Given the description of an element on the screen output the (x, y) to click on. 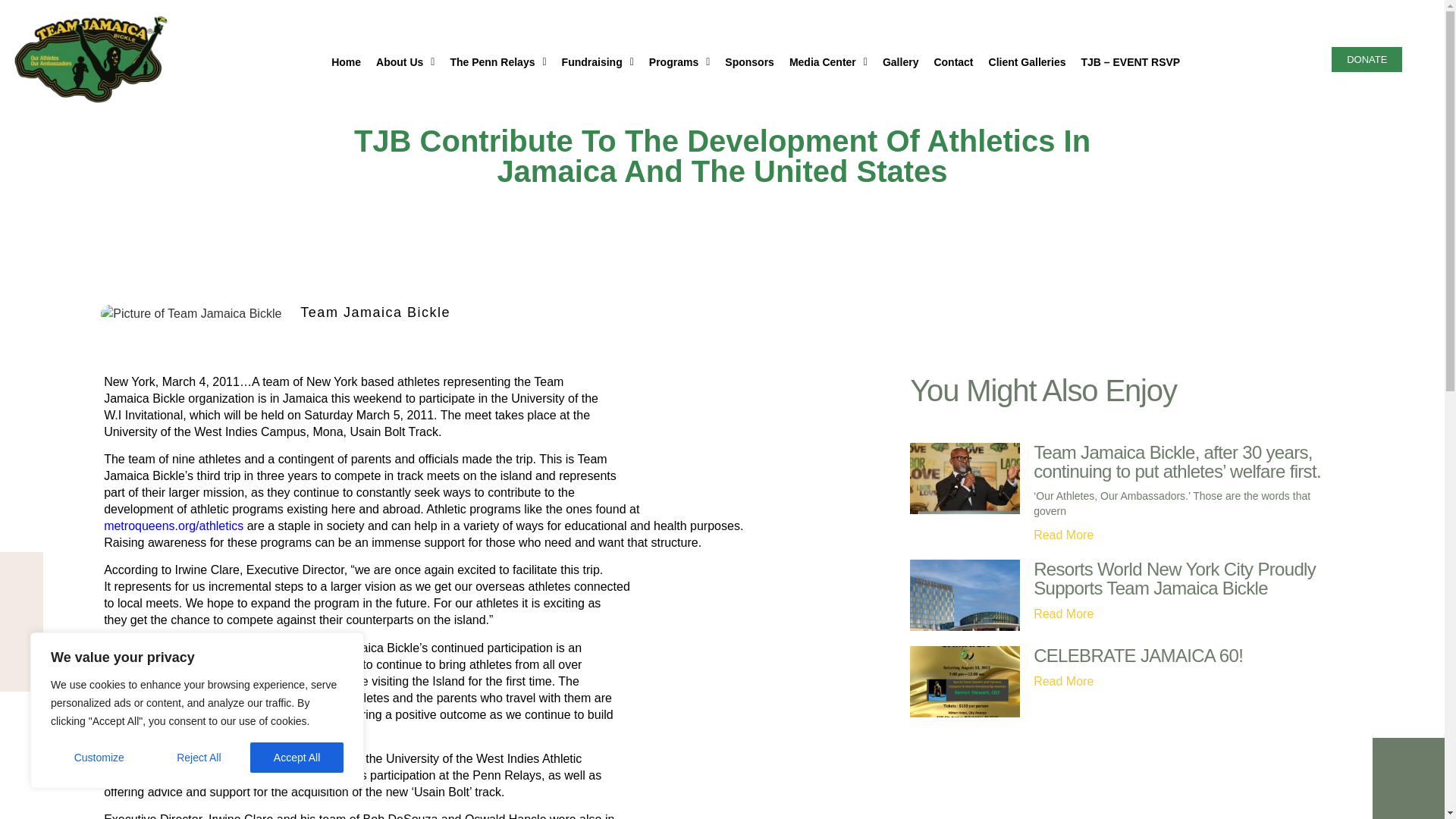
Programs (679, 62)
Gallery (900, 62)
Customize (98, 746)
Media Center (828, 62)
Reject All (198, 746)
Fundraising (598, 62)
About Us (405, 62)
Accept All (296, 746)
Home (345, 62)
Client Galleries (1027, 62)
Contact (952, 62)
The Penn Relays (497, 62)
Sponsors (749, 62)
